Given the description of an element on the screen output the (x, y) to click on. 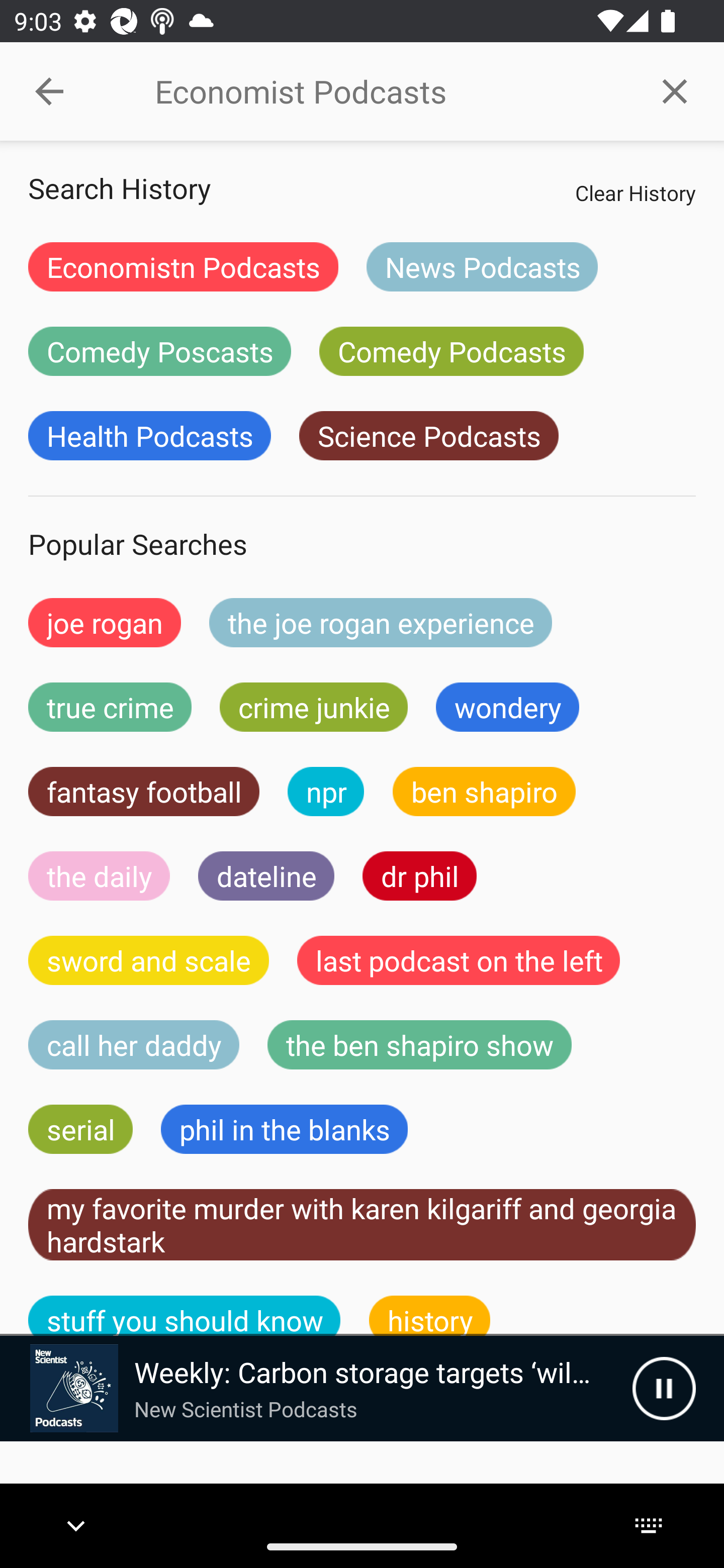
Collapse (49, 91)
Clear query (674, 90)
Economist Podcasts (389, 91)
Clear History (634, 192)
Economistn Podcasts (183, 266)
News Podcasts (482, 266)
Comedy Poscasts (159, 351)
Comedy Podcasts (451, 351)
Health Podcasts (149, 435)
Science Podcasts (428, 435)
joe rogan (104, 622)
the joe rogan experience (380, 622)
true crime (109, 707)
crime junkie (313, 707)
wondery (507, 707)
fantasy football (143, 791)
npr (325, 791)
ben shapiro (483, 791)
the daily (99, 875)
dateline (266, 875)
dr phil (419, 875)
sword and scale (148, 960)
last podcast on the left (458, 960)
call her daddy (133, 1044)
the ben shapiro show (419, 1044)
serial (80, 1128)
phil in the blanks (283, 1128)
stuff you should know (184, 1315)
history (429, 1315)
Pause (663, 1388)
